Given the description of an element on the screen output the (x, y) to click on. 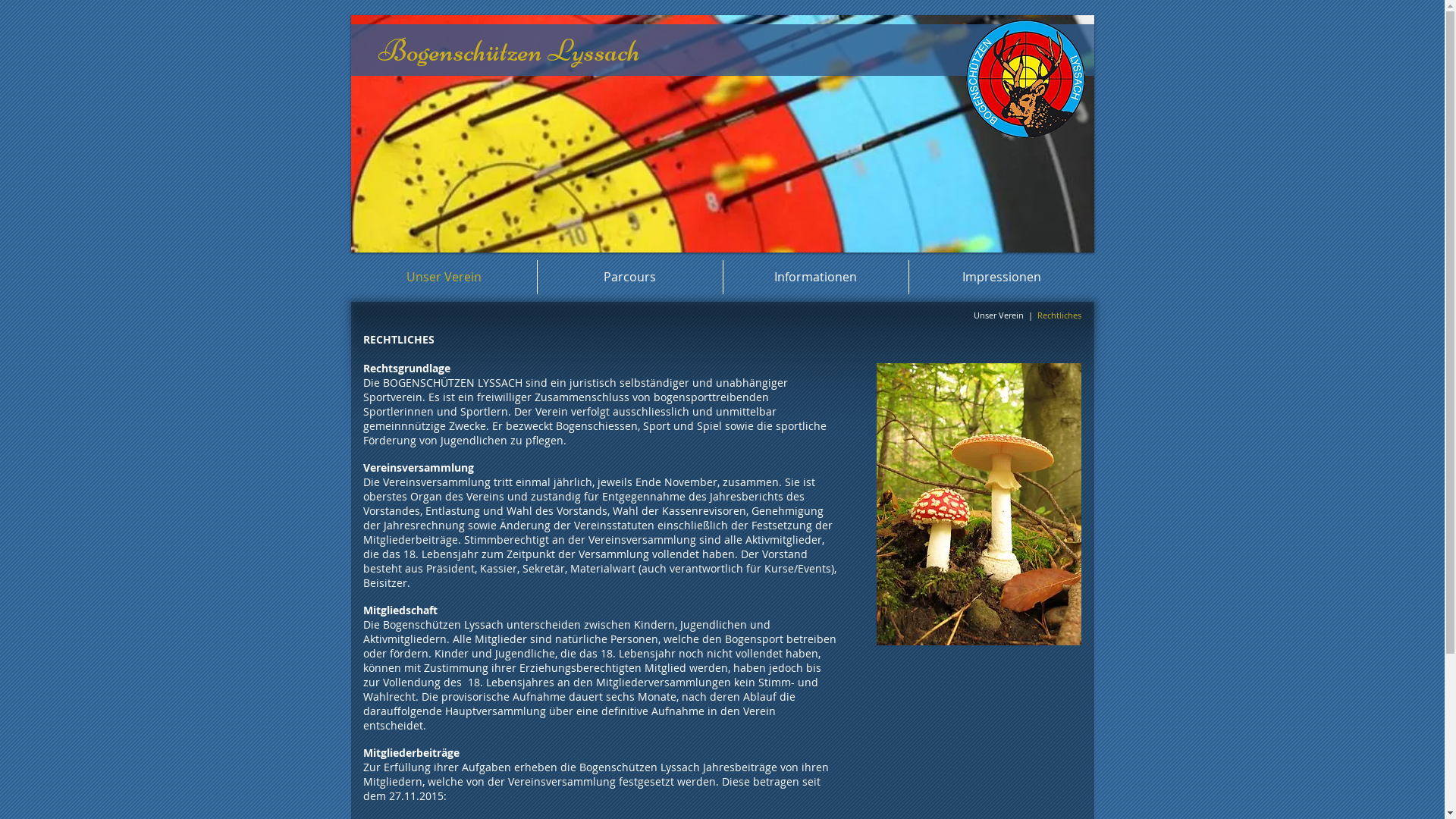
Logo-gross-01.png Element type: hover (1024, 78)
Herbstwald 013-1.jpg Element type: hover (978, 504)
Informationen Element type: text (815, 277)
Impressionen Element type: text (1000, 277)
Unser Verein Element type: text (443, 277)
Parcours Element type: text (628, 277)
